Given the description of an element on the screen output the (x, y) to click on. 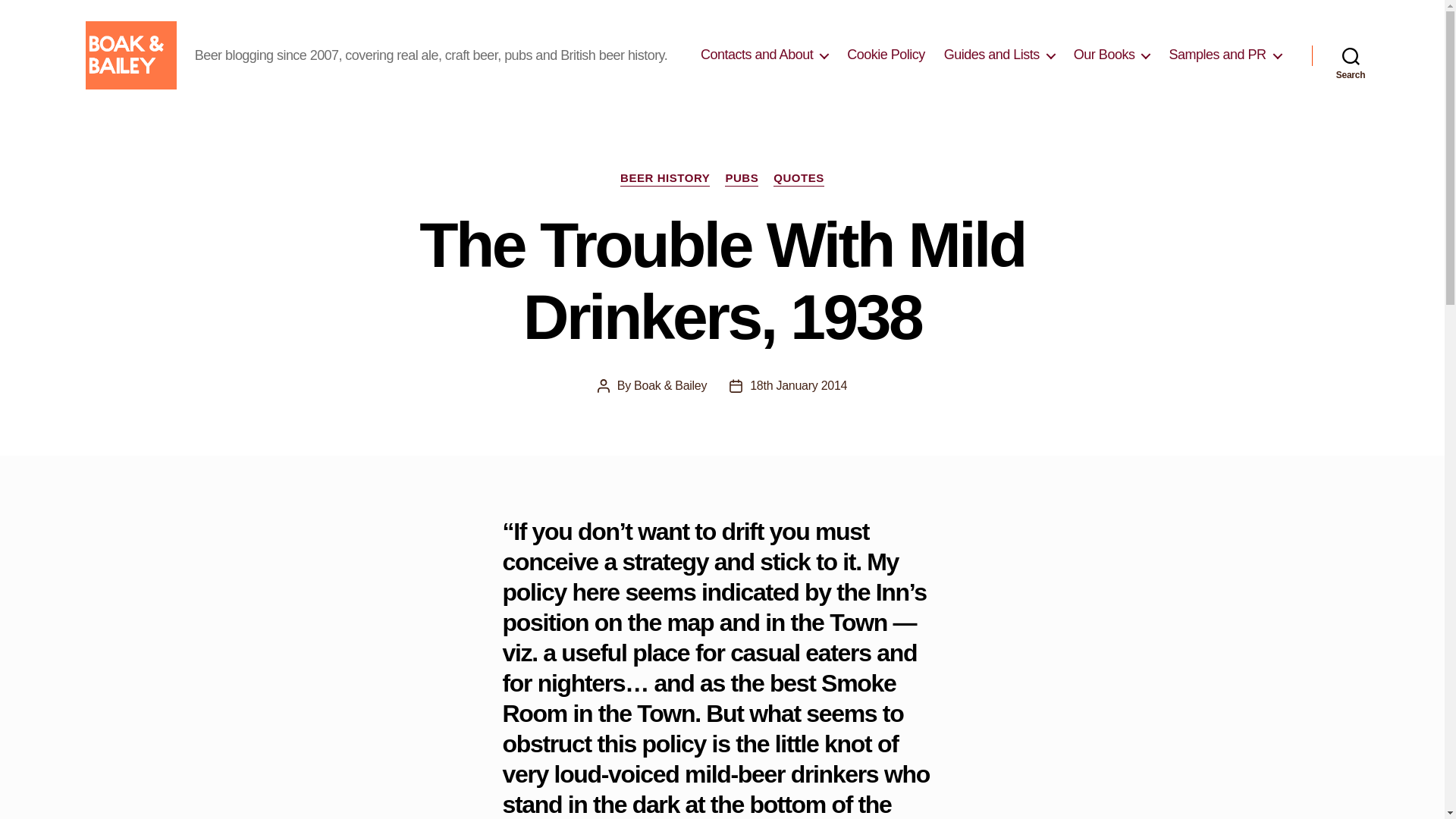
Samples and PR (1225, 54)
Cookie Policy (885, 54)
Guides and Lists (998, 54)
Search (1350, 55)
Our Books (1112, 54)
Contacts and About (764, 54)
